Given the description of an element on the screen output the (x, y) to click on. 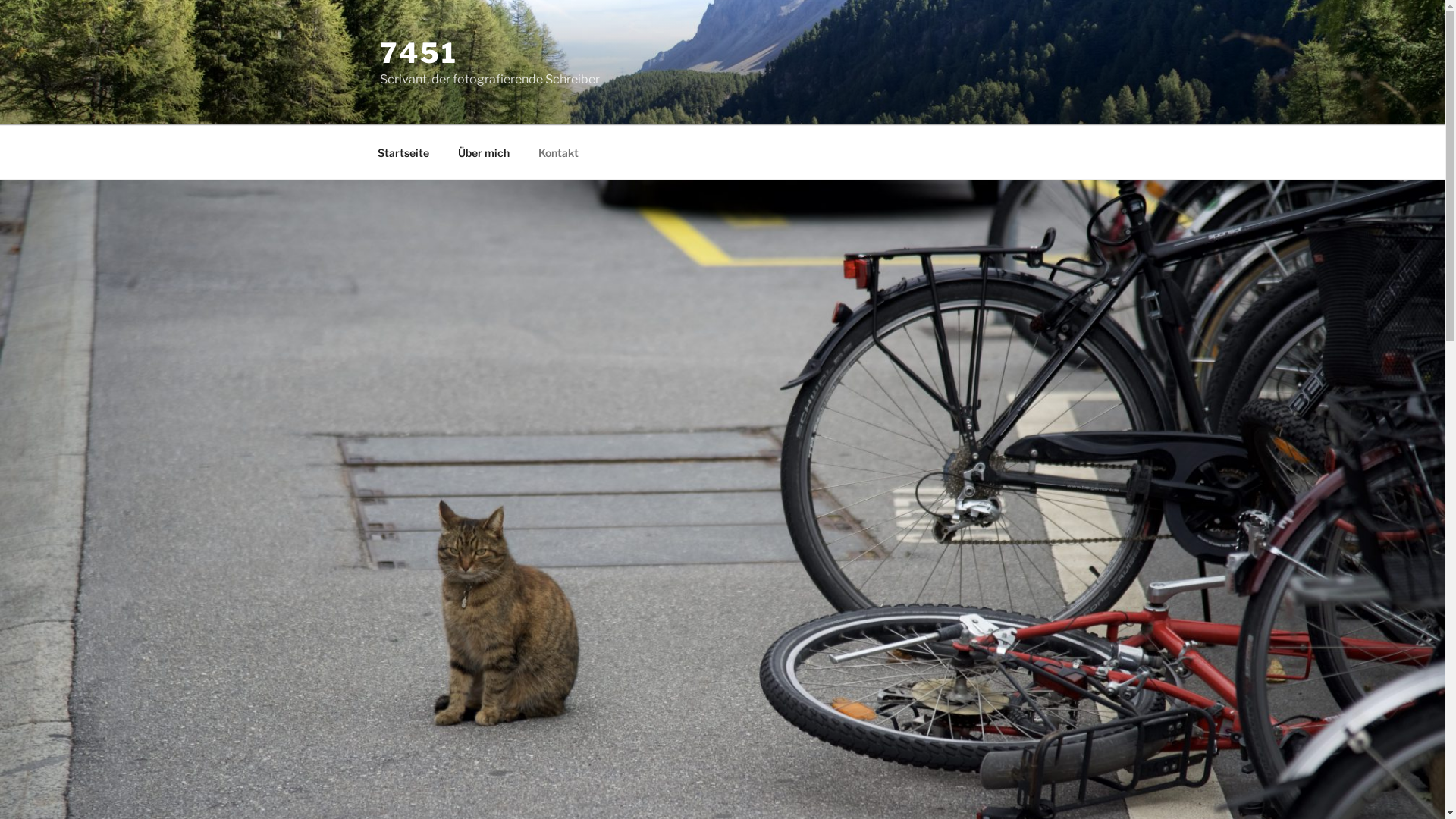
7451 Element type: text (418, 52)
Startseite Element type: text (403, 151)
Kontakt Element type: text (557, 151)
